Given the description of an element on the screen output the (x, y) to click on. 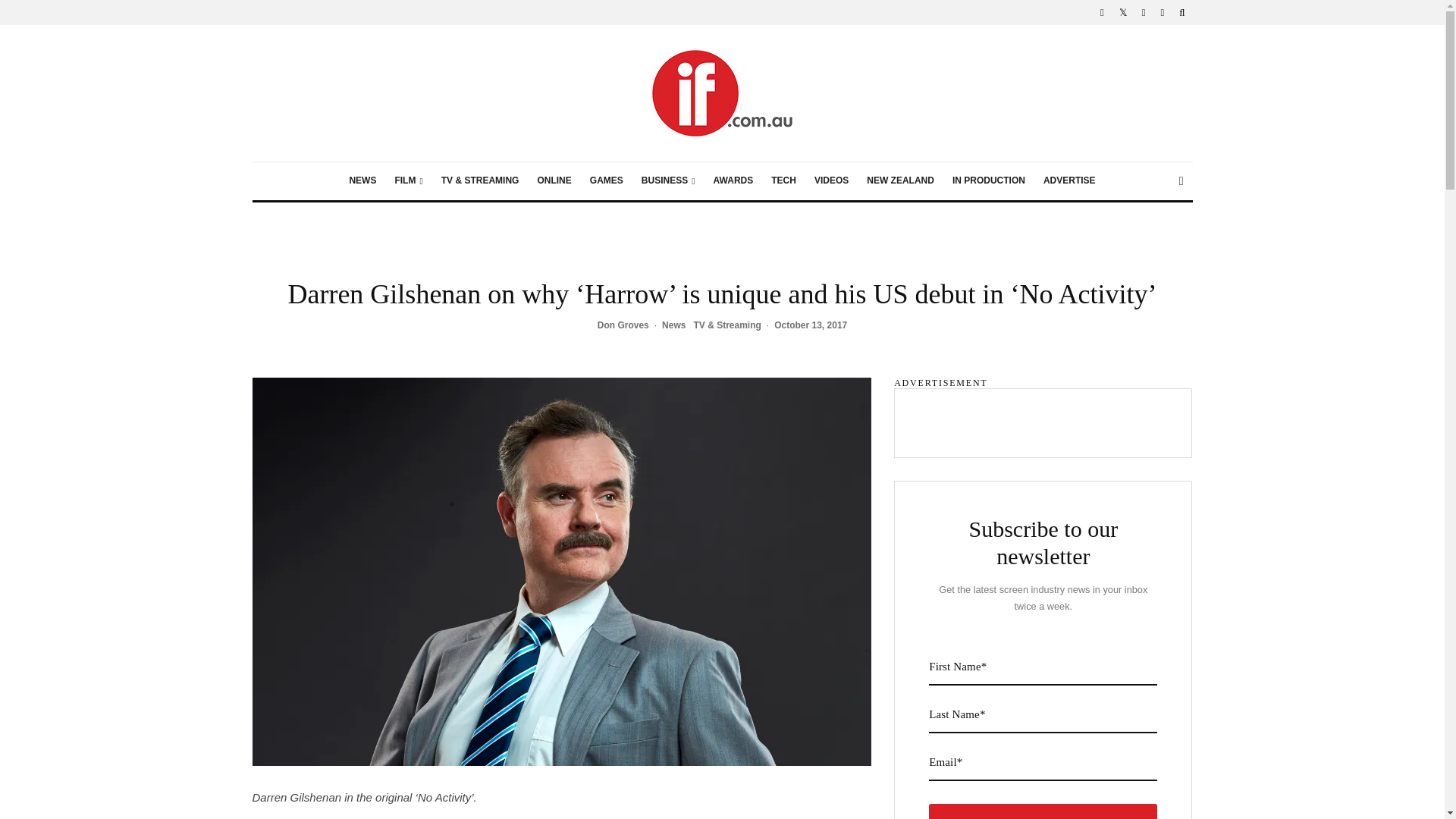
TECH (783, 180)
SUBSCRIBE (1042, 811)
GAMES (605, 180)
BUSINESS (667, 180)
ONLINE (553, 180)
VIDEOS (831, 180)
Posts by Don Groves (622, 325)
NEW ZEALAND (900, 180)
AWARDS (733, 180)
ADVERTISE (1069, 180)
Don Groves (622, 325)
NEWS (362, 180)
FILM (407, 180)
News (673, 325)
IN PRODUCTION (988, 180)
